Given the description of an element on the screen output the (x, y) to click on. 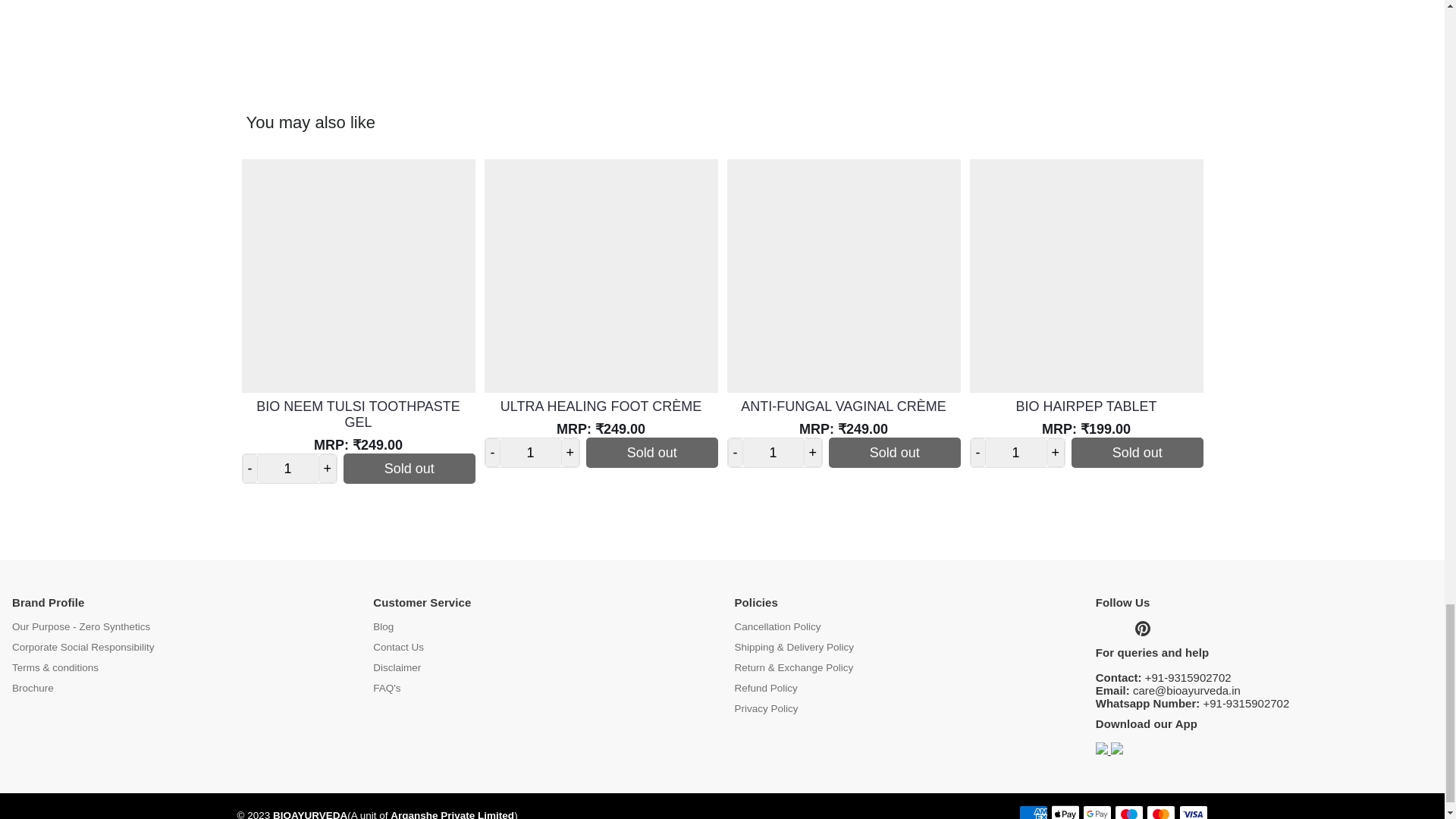
Mastercard (1160, 812)
1 (530, 452)
1 (772, 452)
Apple Pay (1065, 812)
1 (287, 469)
Maestro (1128, 812)
Visa (1192, 812)
American Express (1033, 812)
Google Pay (1097, 812)
1 (1015, 452)
